Given the description of an element on the screen output the (x, y) to click on. 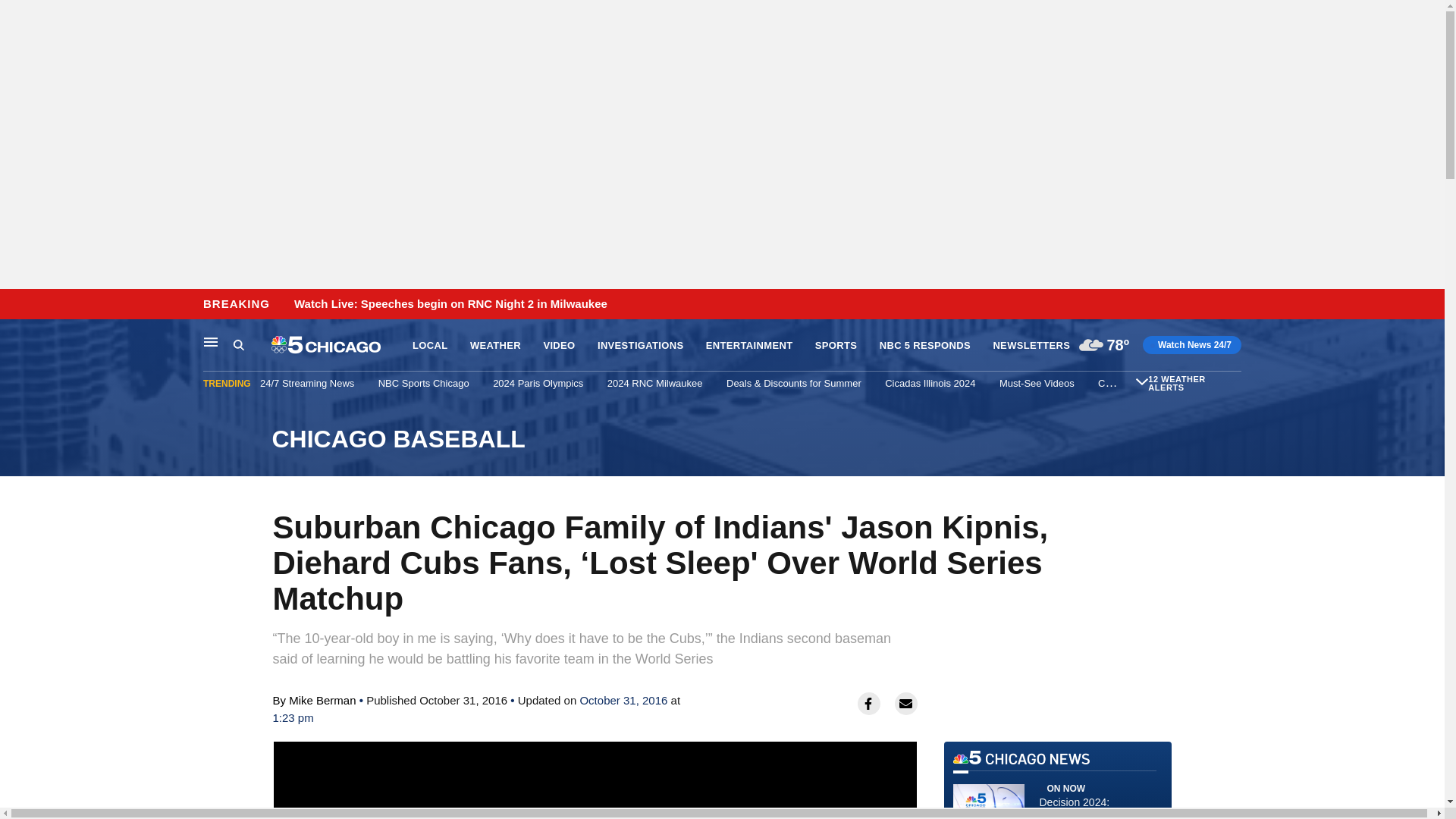
NEWSLETTERS (1031, 345)
LOCAL (429, 345)
SPORTS (836, 345)
NBC 5 RESPONDS (925, 345)
VIDEO (559, 345)
NBC Sports Chicago (423, 383)
2024 RNC Milwaukee (655, 383)
INVESTIGATIONS (639, 345)
Watch Live: Speeches begin on RNC Night 2 in Milwaukee (450, 304)
Expand (1141, 381)
Skip to content (16, 304)
Search (252, 345)
Main Navigation (210, 341)
Search (238, 344)
CHICAGO BASEBALL (721, 439)
